Given the description of an element on the screen output the (x, y) to click on. 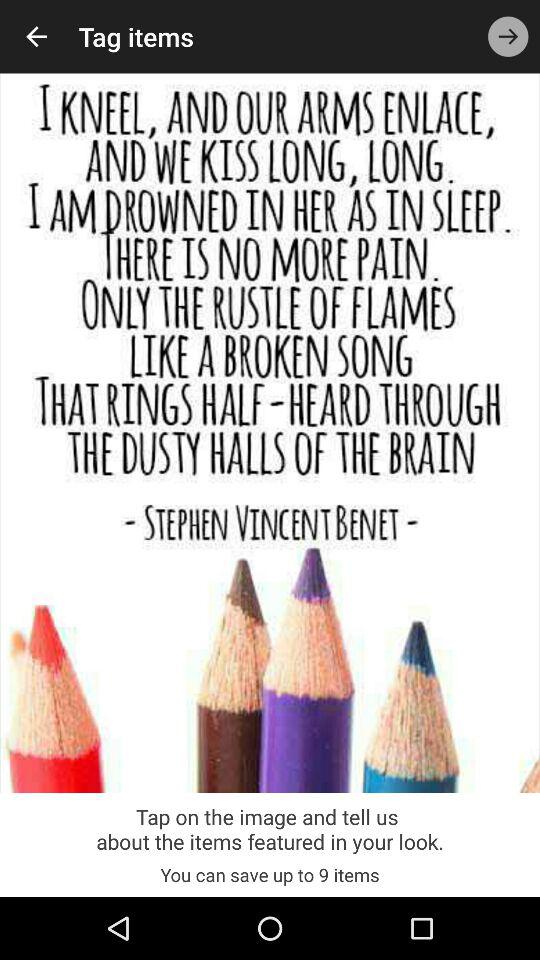
open item to the right of tag items icon (508, 36)
